Given the description of an element on the screen output the (x, y) to click on. 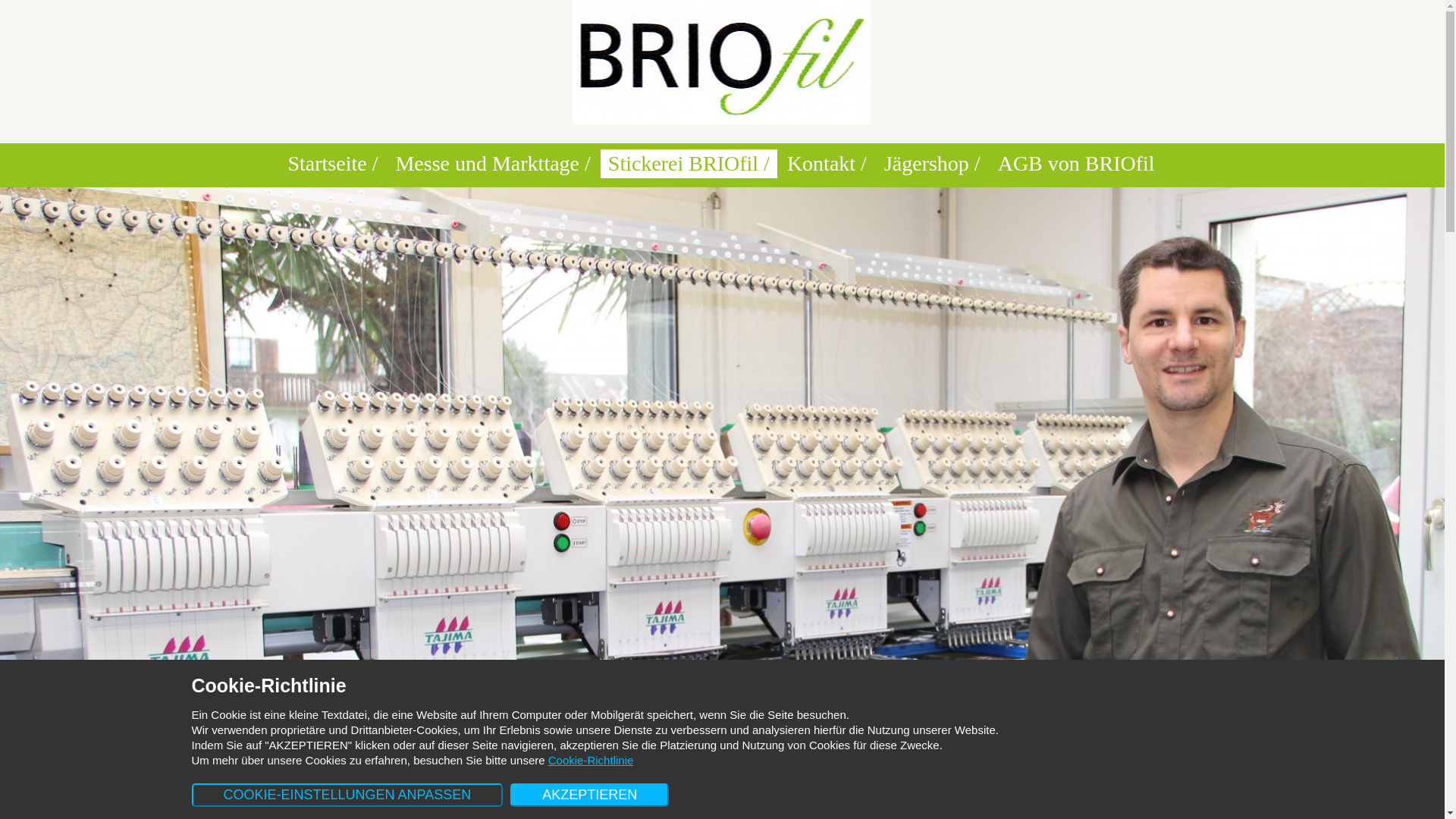
Kontakt / Element type: text (826, 163)
AKZEPTIEREN Element type: text (589, 794)
COOKIE-EINSTELLUNGEN ANPASSEN Element type: text (346, 794)
Startseite / Element type: text (332, 163)
Stickerei BRIOfil / Element type: text (688, 163)
Cookie-Richtlinie Element type: text (590, 759)
Messe und Markttage / Element type: text (492, 163)
AGB von BRIOfil Element type: text (1076, 163)
